Given the description of an element on the screen output the (x, y) to click on. 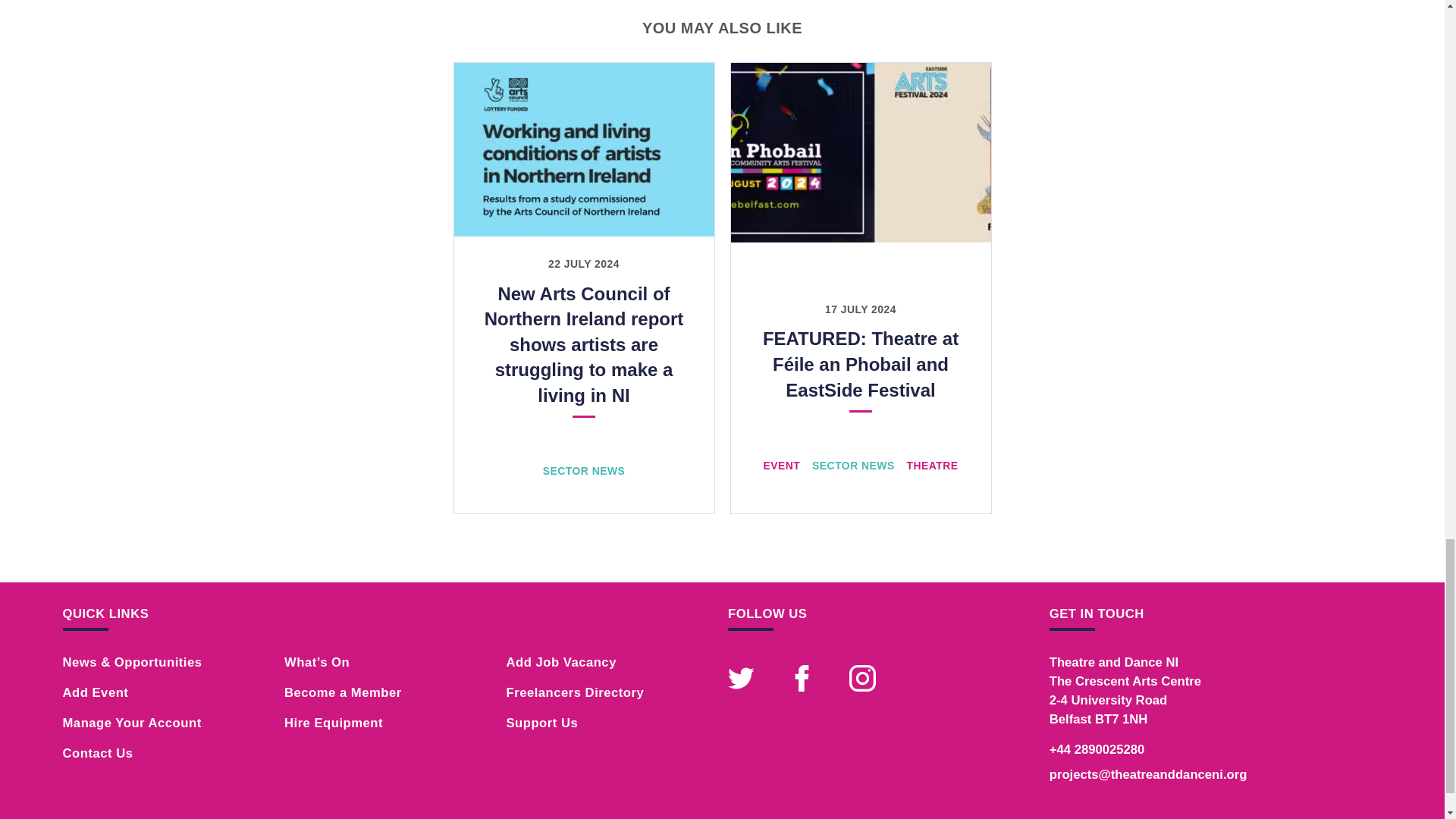
Phone us (1096, 749)
Email our office (1148, 774)
